Given the description of an element on the screen output the (x, y) to click on. 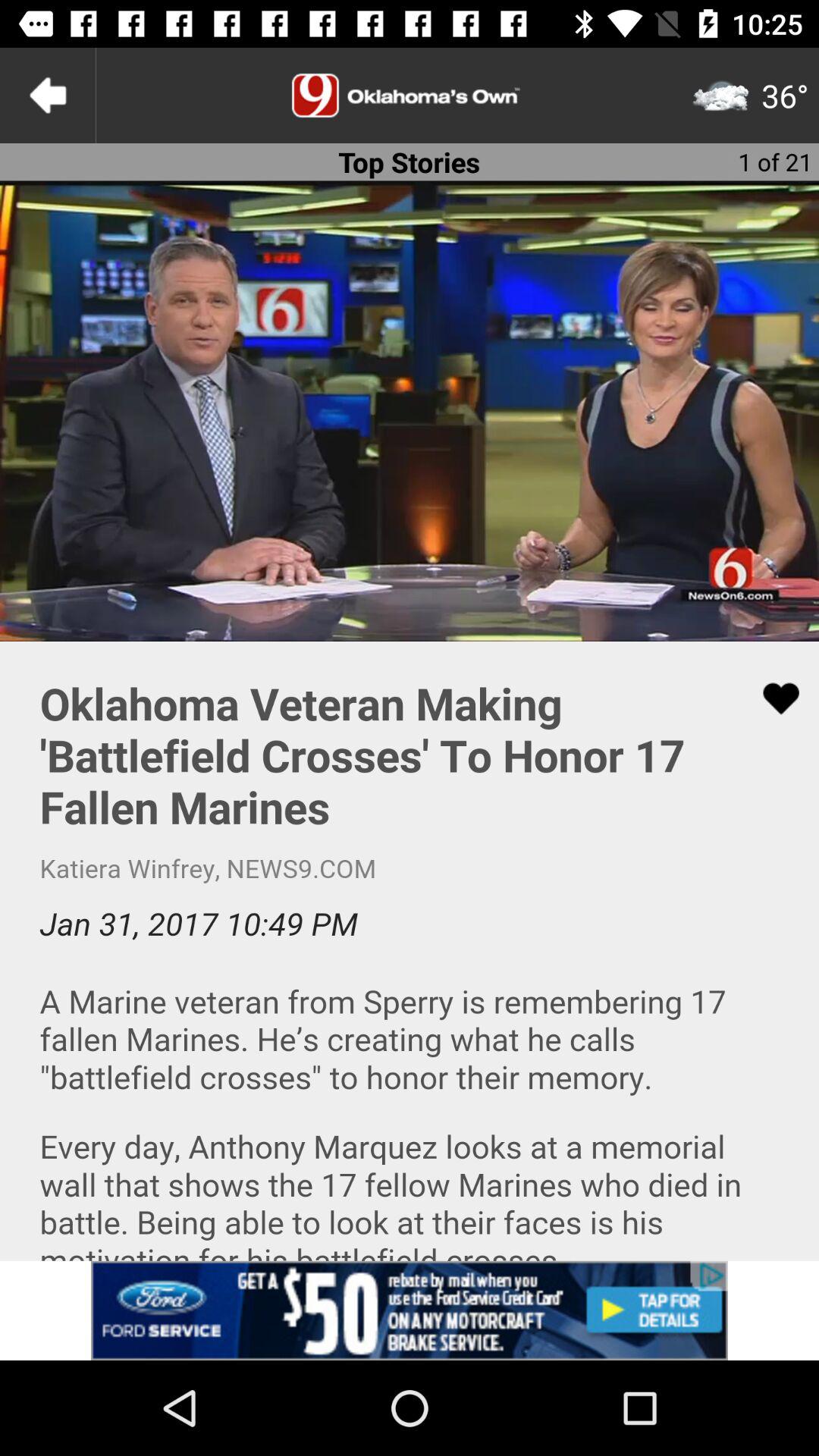
back farce (47, 95)
